Given the description of an element on the screen output the (x, y) to click on. 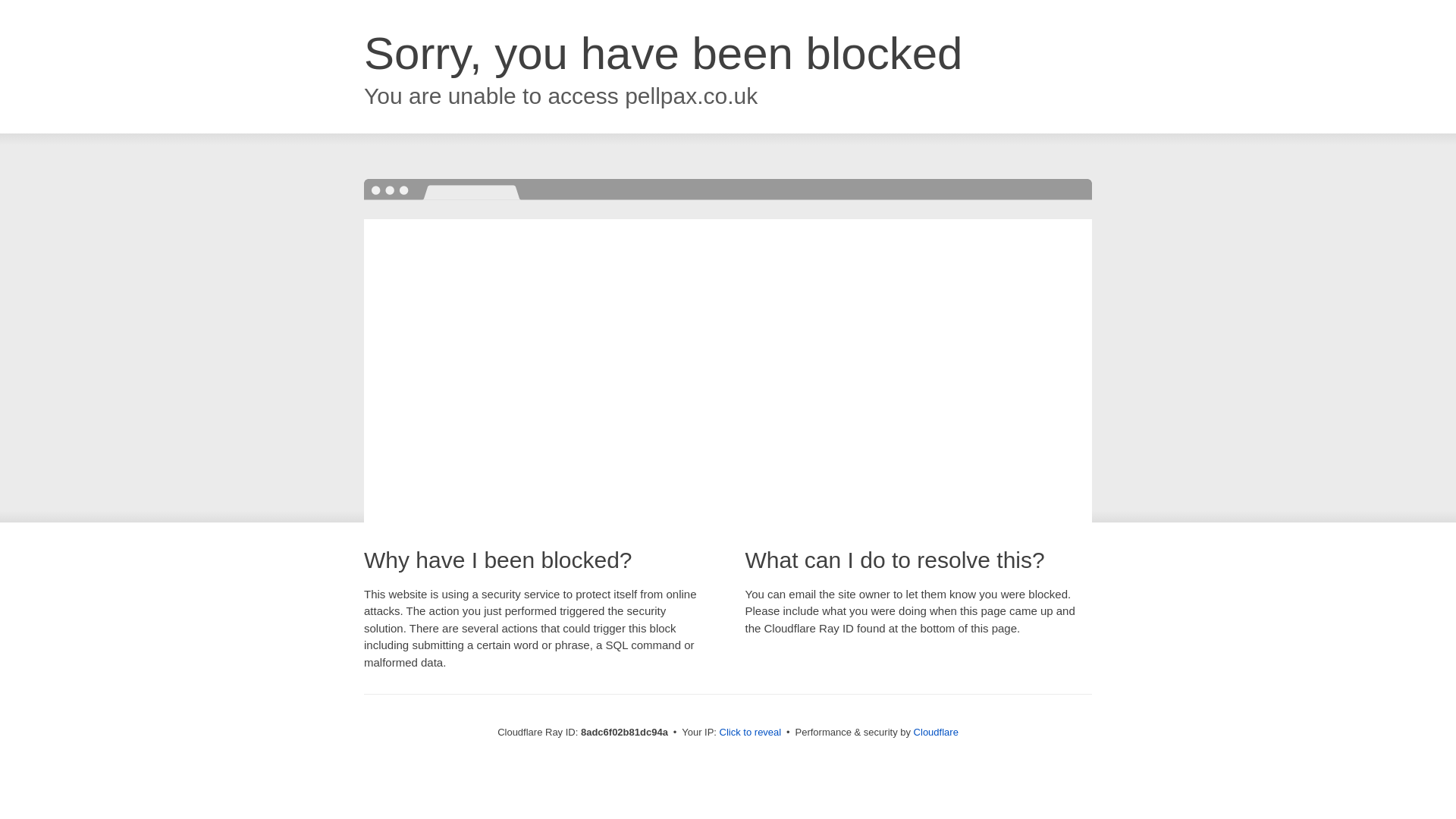
Click to reveal (750, 732)
Cloudflare (936, 731)
